Given the description of an element on the screen output the (x, y) to click on. 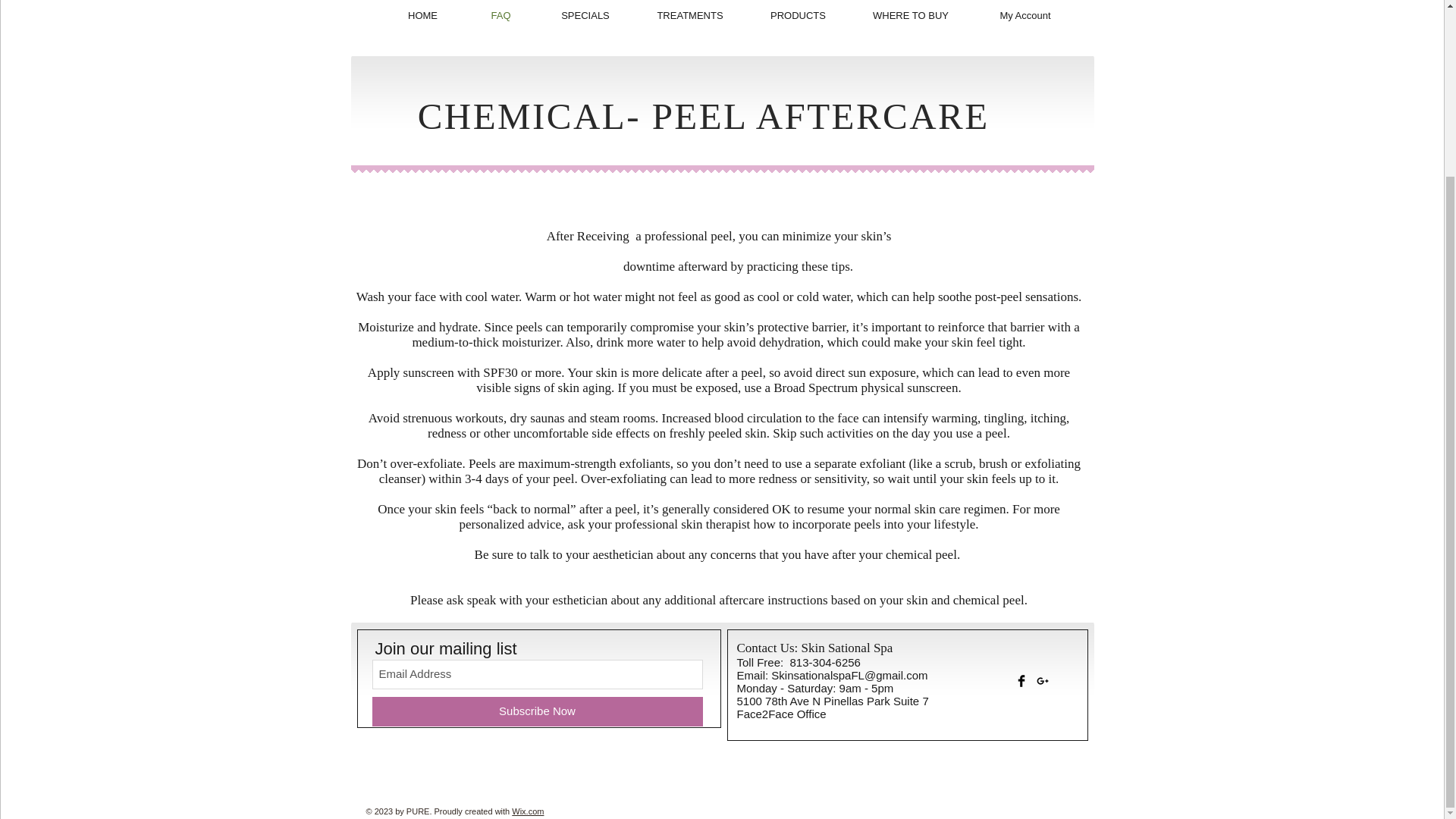
TREATMENTS (689, 15)
FAQ (500, 15)
SPECIALS (585, 15)
PRODUCTS (796, 15)
HOME (422, 15)
